Given the description of an element on the screen output the (x, y) to click on. 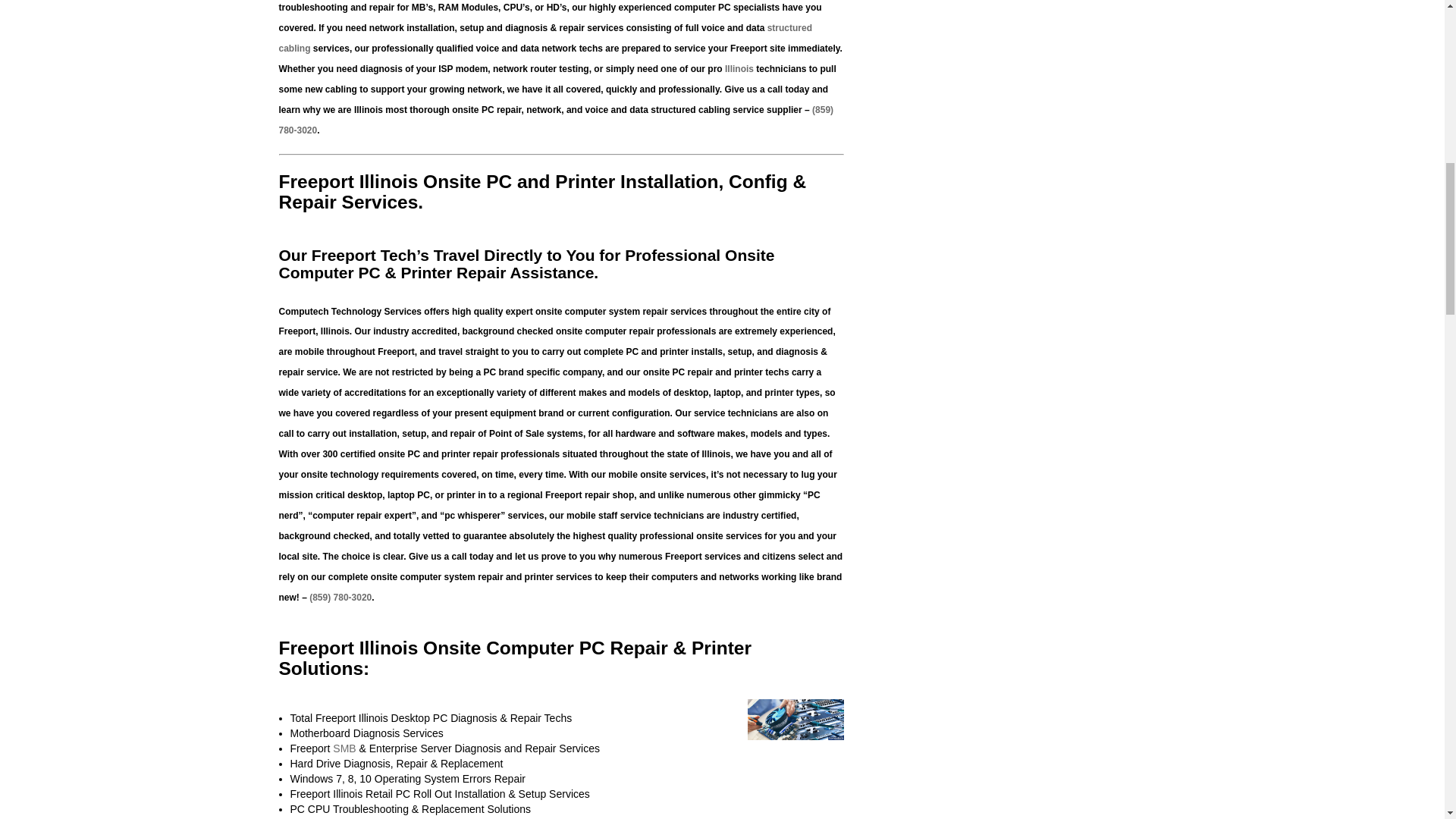
SMB (344, 748)
Illinois (739, 68)
structured cabling (545, 38)
